Given the description of an element on the screen output the (x, y) to click on. 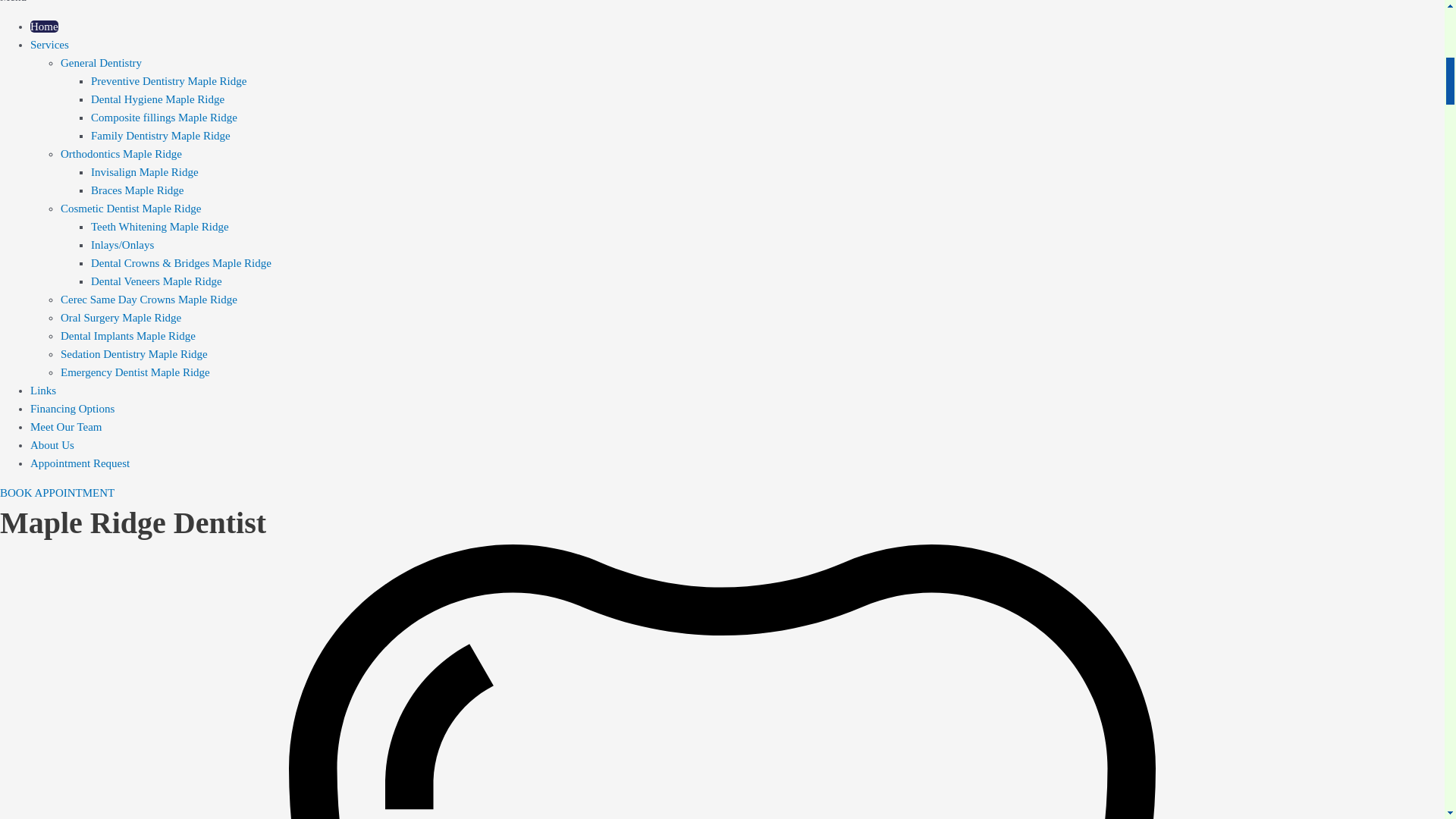
Home (44, 26)
General Dentistry (101, 62)
Dental Hygiene Maple Ridge (157, 99)
Services (49, 44)
Preventive Dentistry Maple Ridge (168, 80)
